Given the description of an element on the screen output the (x, y) to click on. 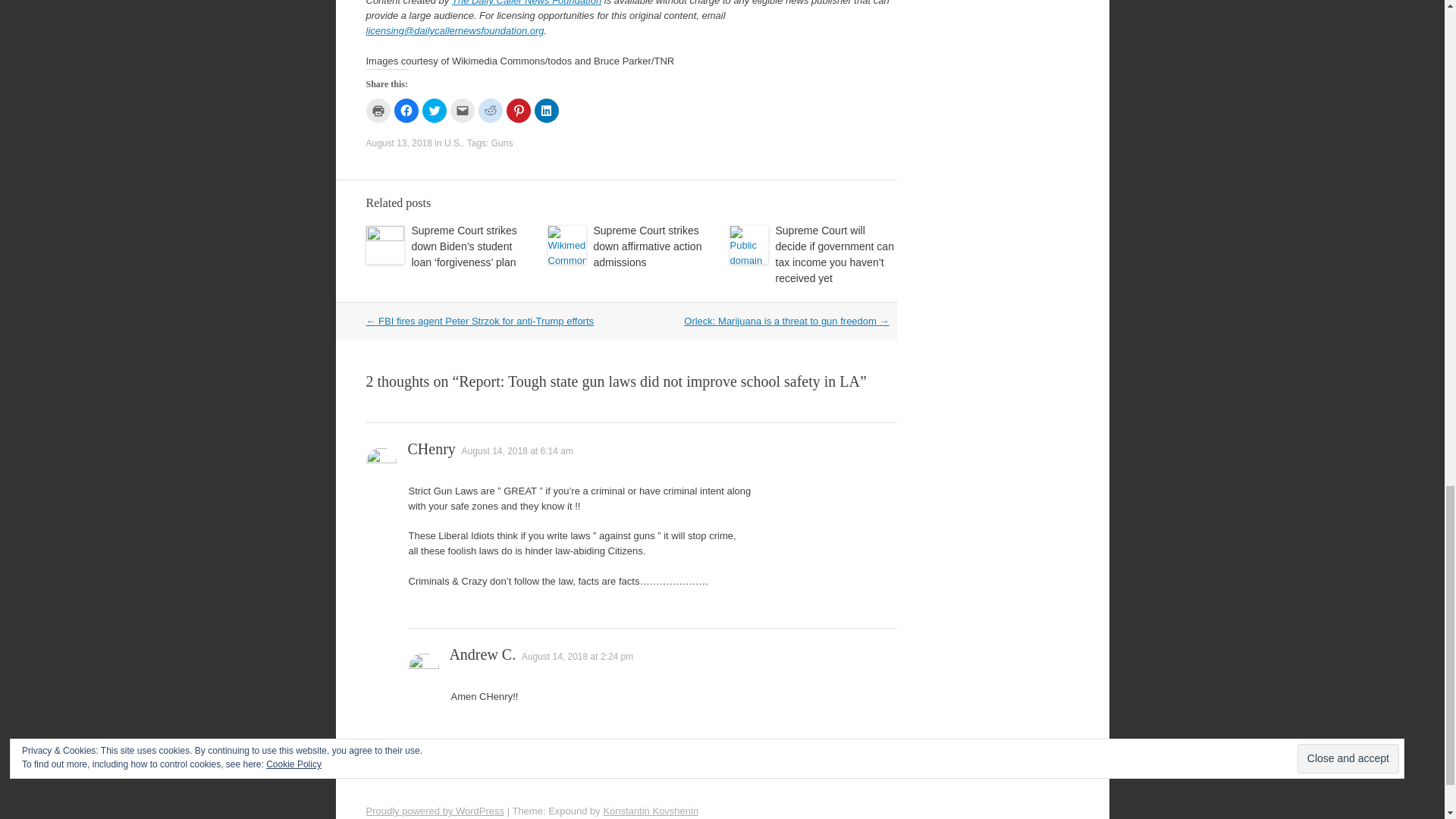
Click to share on Reddit (489, 110)
Click to print (377, 110)
Click to email this to a friend (461, 110)
Click to share on Twitter (433, 110)
Click to share on Pinterest (518, 110)
Click to share on LinkedIn (545, 110)
Click to share on Facebook (406, 110)
